Given the description of an element on the screen output the (x, y) to click on. 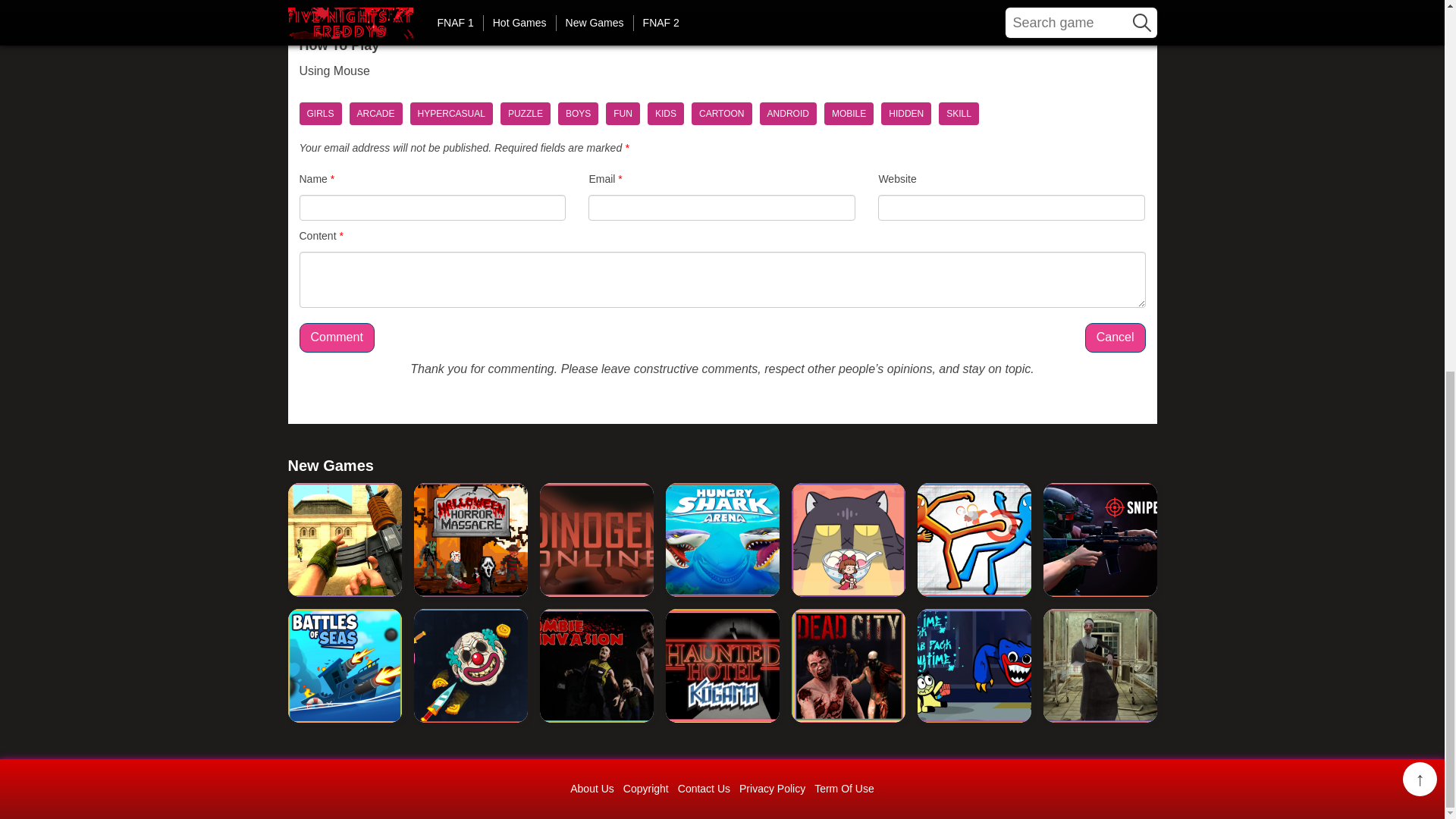
Comment (336, 337)
CARTOON (721, 113)
HIDDEN (905, 113)
Comment (336, 337)
KIDS (665, 113)
BOYS (577, 113)
Cancel (1114, 337)
ANDROID (788, 113)
ARCADE (376, 113)
FPS Assault Shooter (344, 540)
Dinogen Online (596, 540)
SKILL (958, 113)
Halloween Horror Massacre (470, 540)
FUN (622, 113)
GIRLS (319, 113)
